Given the description of an element on the screen output the (x, y) to click on. 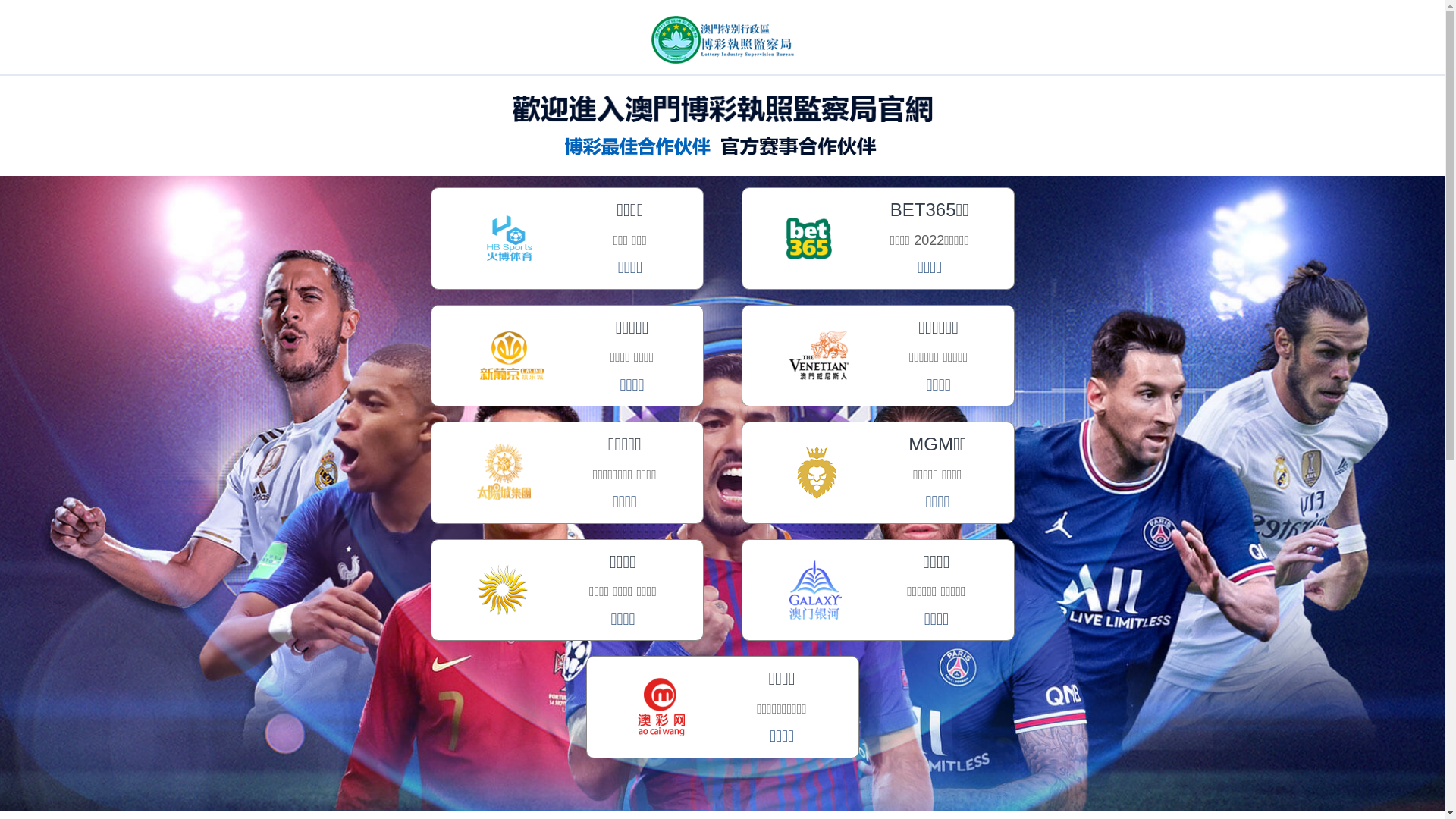
Go Element type: text (1262, 38)
